Given the description of an element on the screen output the (x, y) to click on. 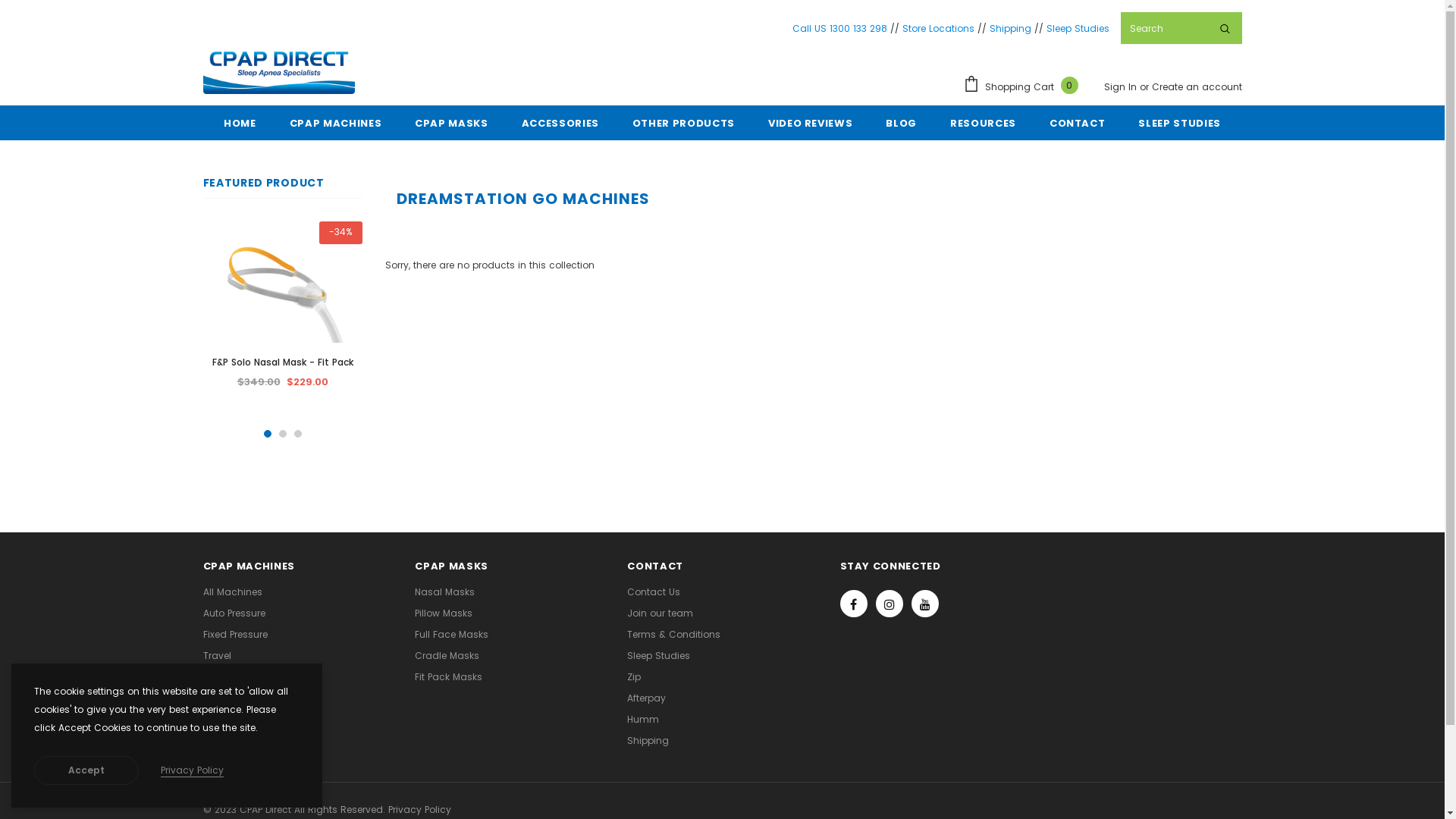
YouTube Element type: hover (924, 603)
Logo Element type: hover (278, 69)
Sign In Element type: text (1121, 86)
SLEEP STUDIES Element type: text (1179, 122)
HOME Element type: text (239, 122)
Facebook Element type: hover (853, 603)
Zip Element type: text (633, 676)
Shipping Element type: text (647, 740)
Call US 1300 133 298 Element type: text (838, 27)
All Machines Element type: text (232, 591)
3 Element type: text (297, 433)
Afterpay Element type: text (646, 698)
Privacy Policy Element type: text (419, 809)
Instagram Element type: hover (889, 603)
Full Face Masks Element type: text (451, 634)
2 Element type: text (282, 433)
Humm Element type: text (642, 719)
ACCESSORIES Element type: text (560, 122)
Nasal Masks Element type: text (444, 591)
Sleep Studies Element type: text (1077, 27)
BiLevel Element type: text (218, 676)
1 Element type: text (267, 433)
Shopping Cart 0 Element type: text (1024, 86)
Store Locations Element type: text (938, 27)
VIDEO REVIEWS Element type: text (810, 122)
Shipping Element type: text (1009, 27)
Sleep Studies Element type: text (658, 655)
OTHER PRODUCTS Element type: text (683, 122)
Auto Pressure Element type: text (234, 613)
Cradle Masks Element type: text (446, 655)
CONTACT Element type: text (1077, 122)
Privacy Policy Element type: text (191, 770)
CPAP MACHINES Element type: text (335, 122)
Join our team Element type: text (660, 613)
Fit Pack Masks Element type: text (448, 676)
CPAP MASKS Element type: text (451, 122)
Create an account Element type: text (1196, 86)
Travel Element type: text (217, 655)
BLOG Element type: text (900, 122)
Pillow Masks Element type: text (443, 613)
Terms & Conditions Element type: text (673, 634)
Accept Element type: text (86, 770)
Fixed Pressure Element type: text (235, 634)
RESOURCES Element type: text (983, 122)
Contact Us Element type: text (653, 591)
Hire a CPAP Machine Element type: text (250, 698)
F&P Solo Nasal Mask - Fit Pack Element type: text (282, 362)
